Given the description of an element on the screen output the (x, y) to click on. 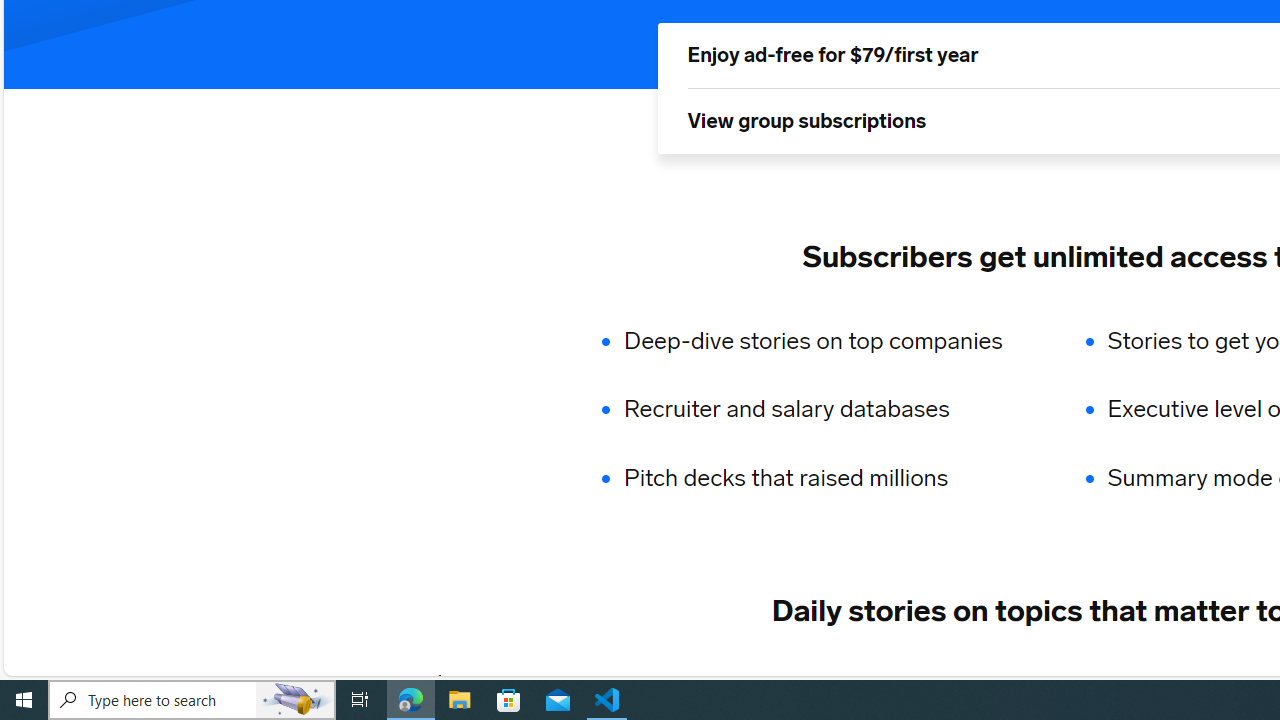
FINANCE (853, 681)
HEALTHCARE (1195, 681)
RETAIL (744, 681)
Deep-dive stories on top companies (825, 340)
Recruiter and salary databases (825, 409)
PERSONAL FINANCE (1016, 681)
Pitch decks that raised millions (825, 478)
ADVERTISING (615, 681)
TECH (492, 681)
